Given the description of an element on the screen output the (x, y) to click on. 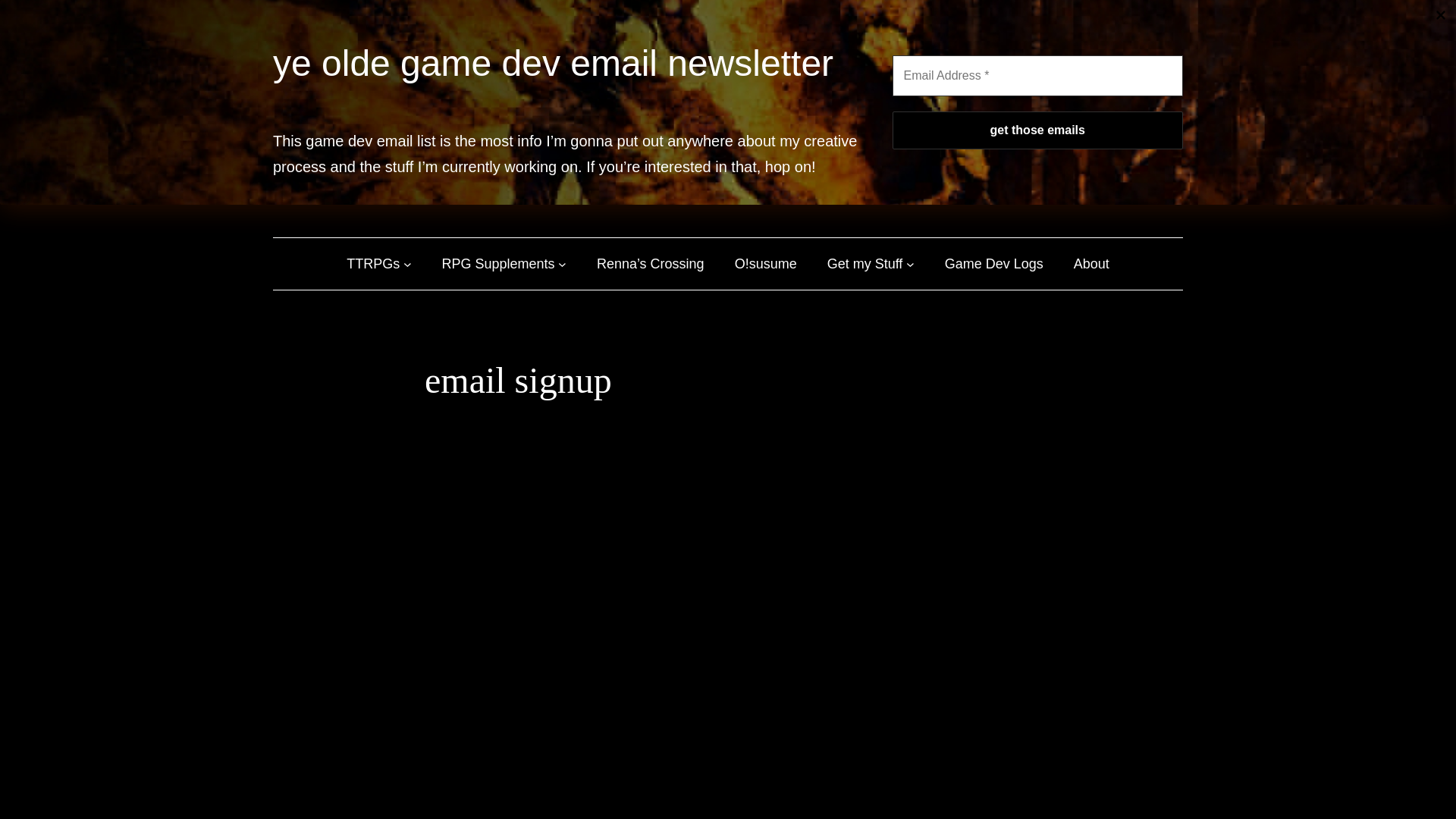
Get my Stuff (864, 264)
RPG Supplements (498, 264)
get those emails (1036, 130)
TTRPGs (372, 264)
O!susume (765, 264)
get those emails (1036, 130)
About (1091, 264)
Email Address (1036, 75)
Game Dev Logs (993, 264)
